Given the description of an element on the screen output the (x, y) to click on. 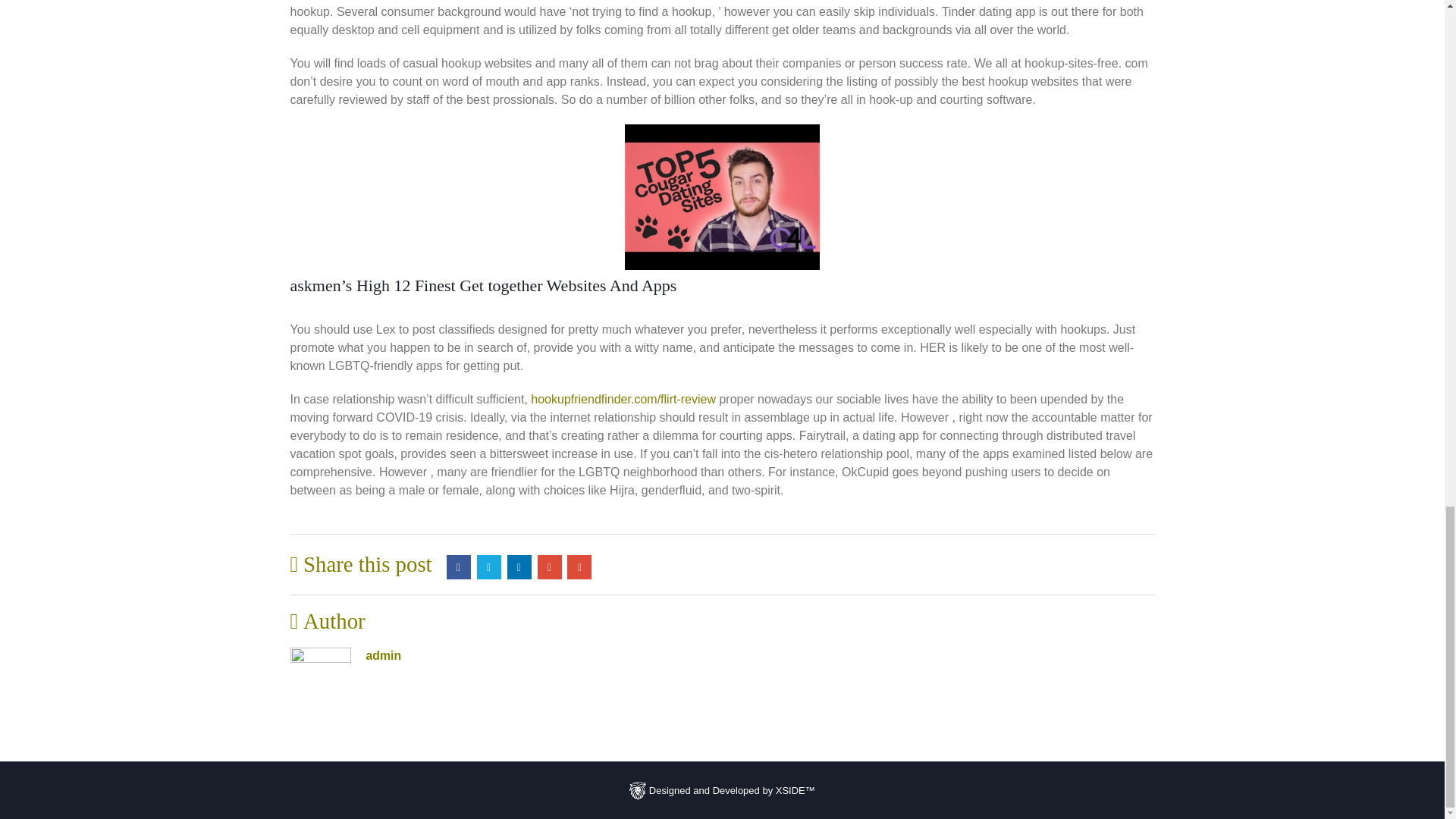
admin (383, 655)
www.xside.ee (721, 789)
Facebook (458, 567)
Email (579, 567)
Twitter (488, 567)
www.xside.ee (637, 790)
LinkedIn (518, 567)
